Given the description of an element on the screen output the (x, y) to click on. 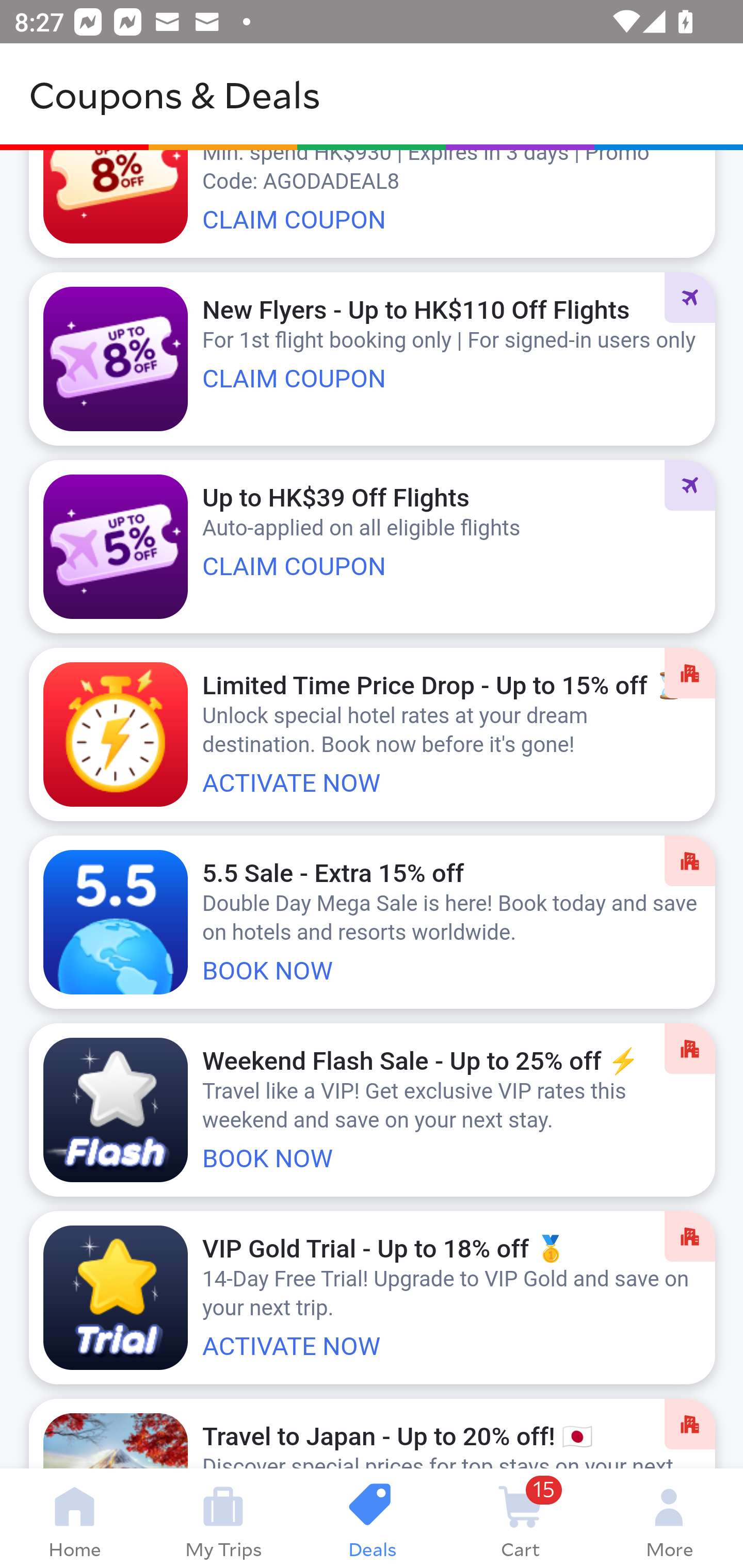
Home (74, 1518)
My Trips (222, 1518)
Deals (371, 1518)
15 Cart (519, 1518)
More (668, 1518)
